Given the description of an element on the screen output the (x, y) to click on. 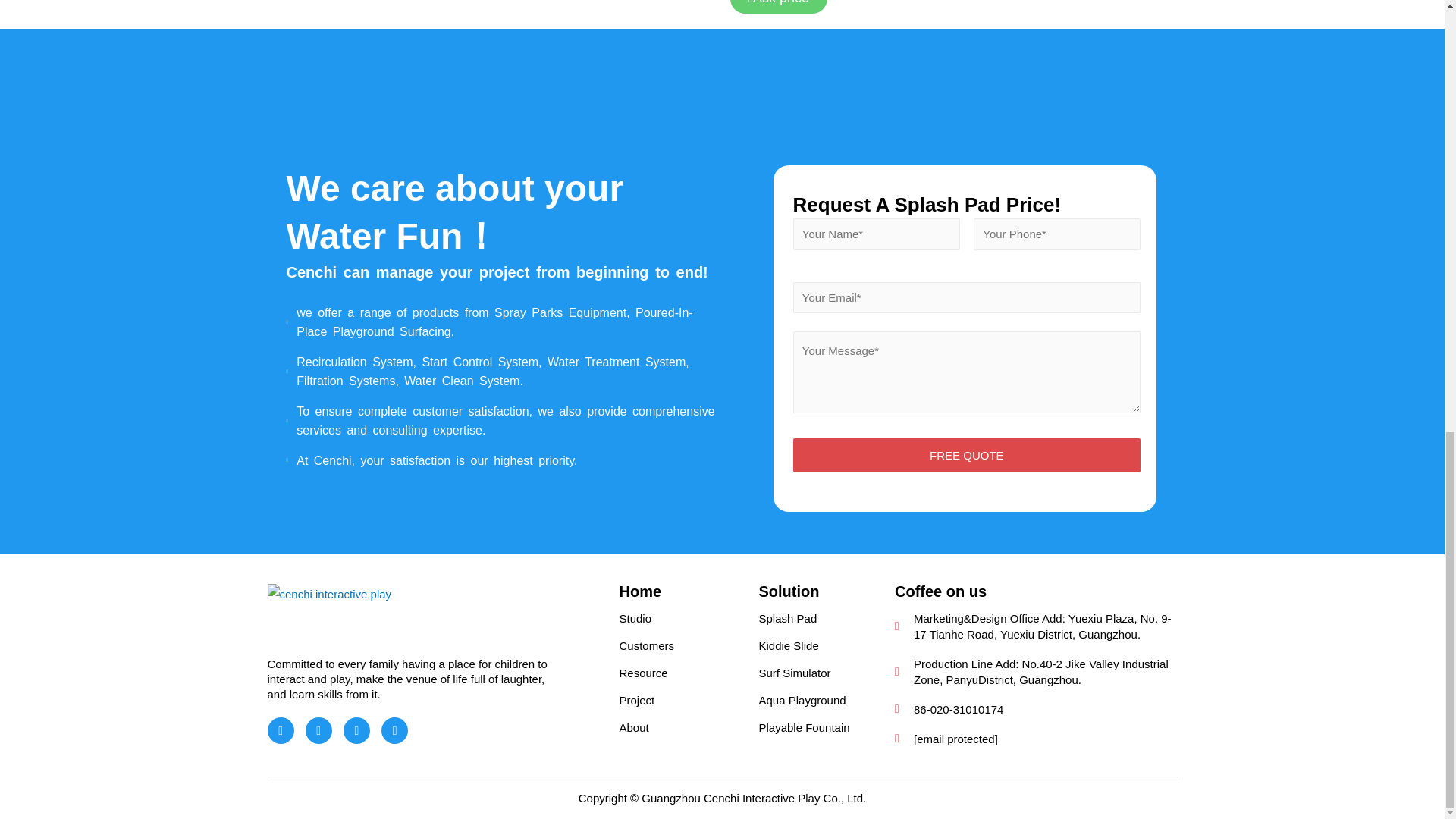
FREE QUOTE (967, 455)
FREE QUOTE (967, 455)
Ask price (778, 6)
